Given the description of an element on the screen output the (x, y) to click on. 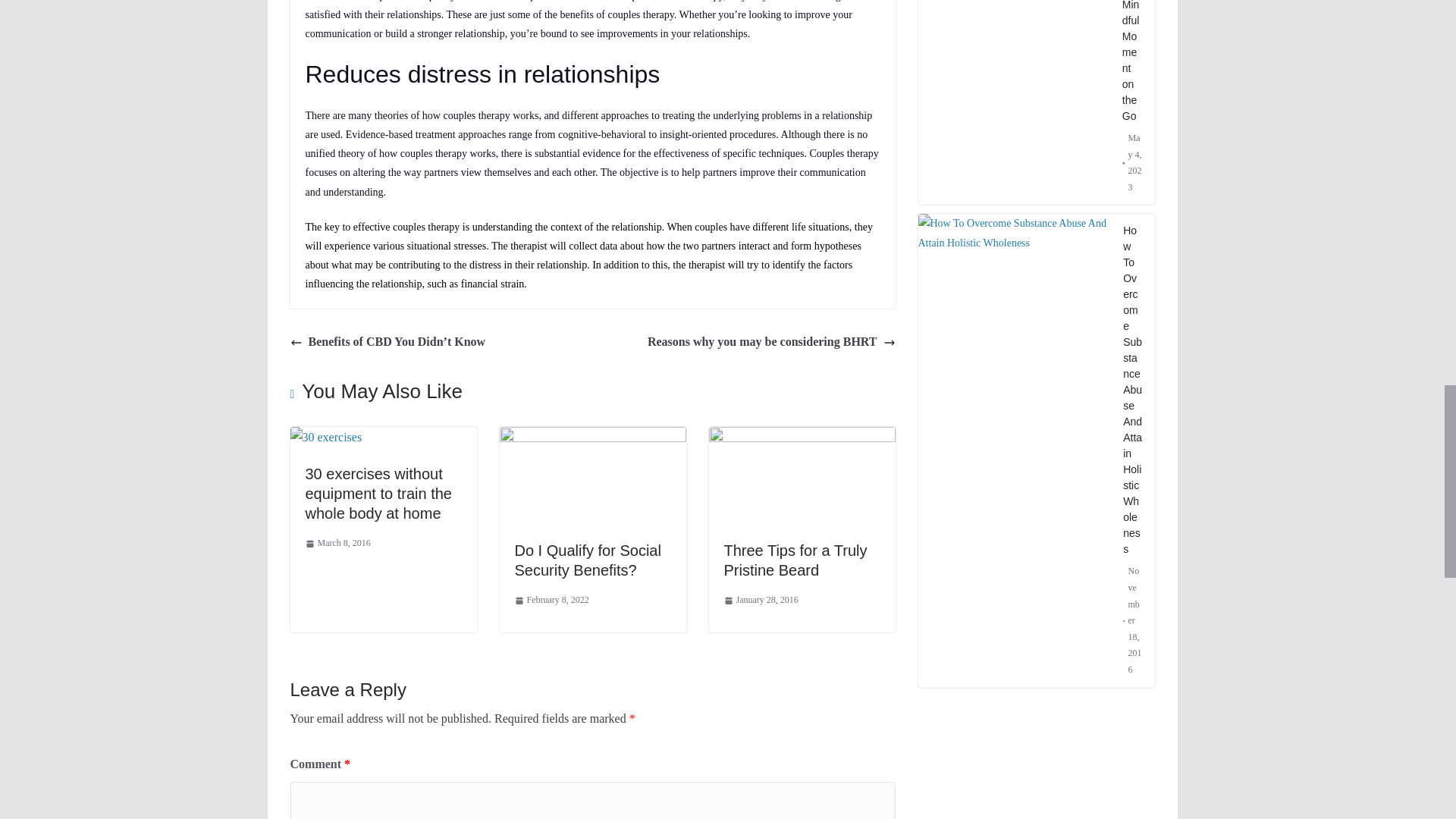
February 8, 2022 (550, 600)
Three Tips for a Truly Pristine Beard (794, 560)
March 8, 2016 (336, 543)
Do I Qualify for Social Security Benefits? (587, 560)
1:09 pm (336, 543)
Reasons why you may be considering BHRT (771, 341)
January 28, 2016 (760, 600)
